Given the description of an element on the screen output the (x, y) to click on. 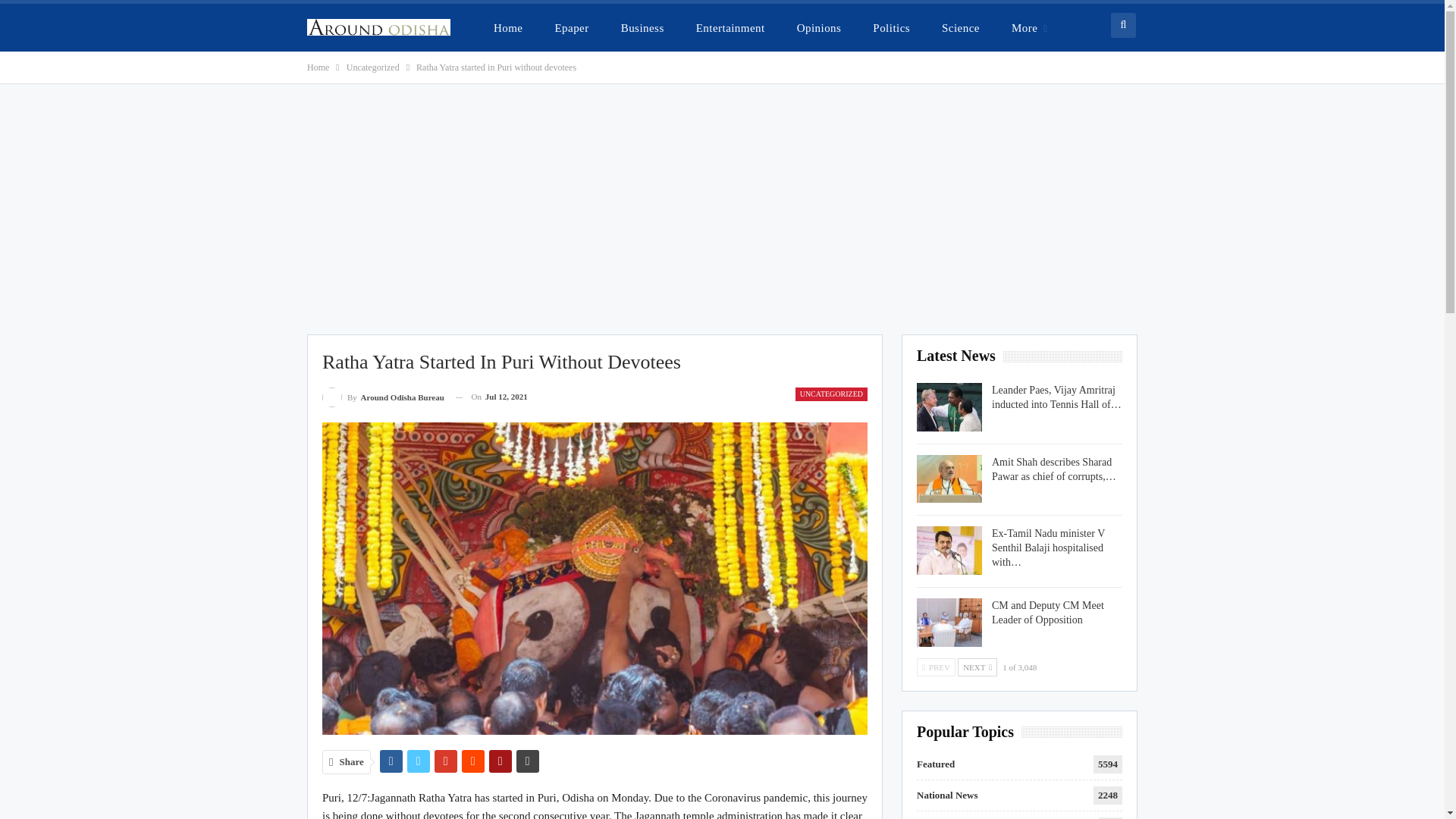
Business (642, 27)
Browse Author Articles (382, 396)
Opinions (818, 27)
Entertainment (730, 27)
Home (508, 27)
Uncategorized (372, 67)
More (1028, 27)
UNCATEGORIZED (830, 394)
Science (960, 27)
Epaper (570, 27)
Politics (890, 27)
By Around Odisha Bureau (382, 396)
Home (318, 67)
